Given the description of an element on the screen output the (x, y) to click on. 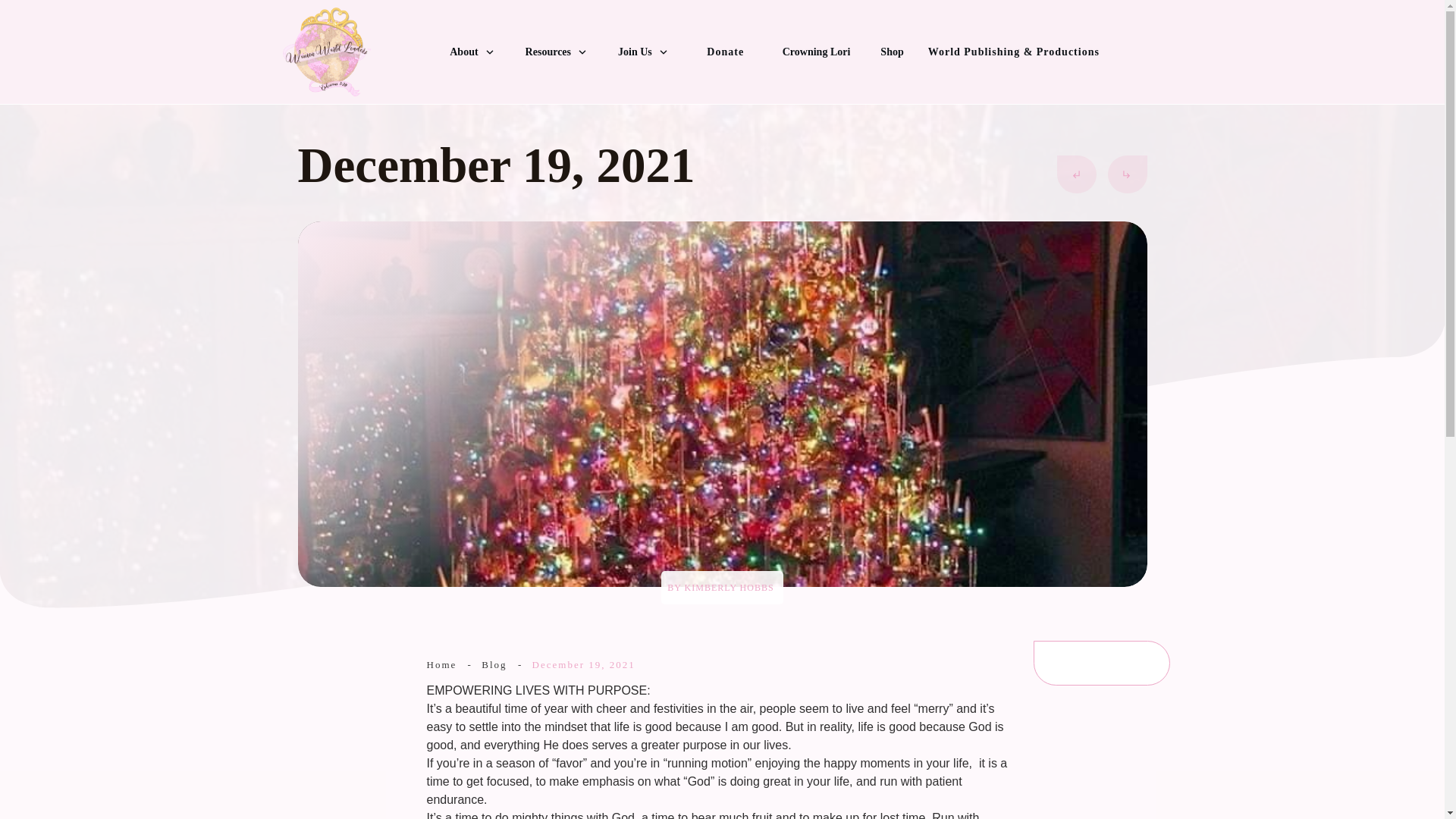
Donate (725, 51)
Crowning Lori (816, 51)
Resources (556, 51)
Shop (891, 51)
About (472, 51)
Join Us (642, 51)
